Given the description of an element on the screen output the (x, y) to click on. 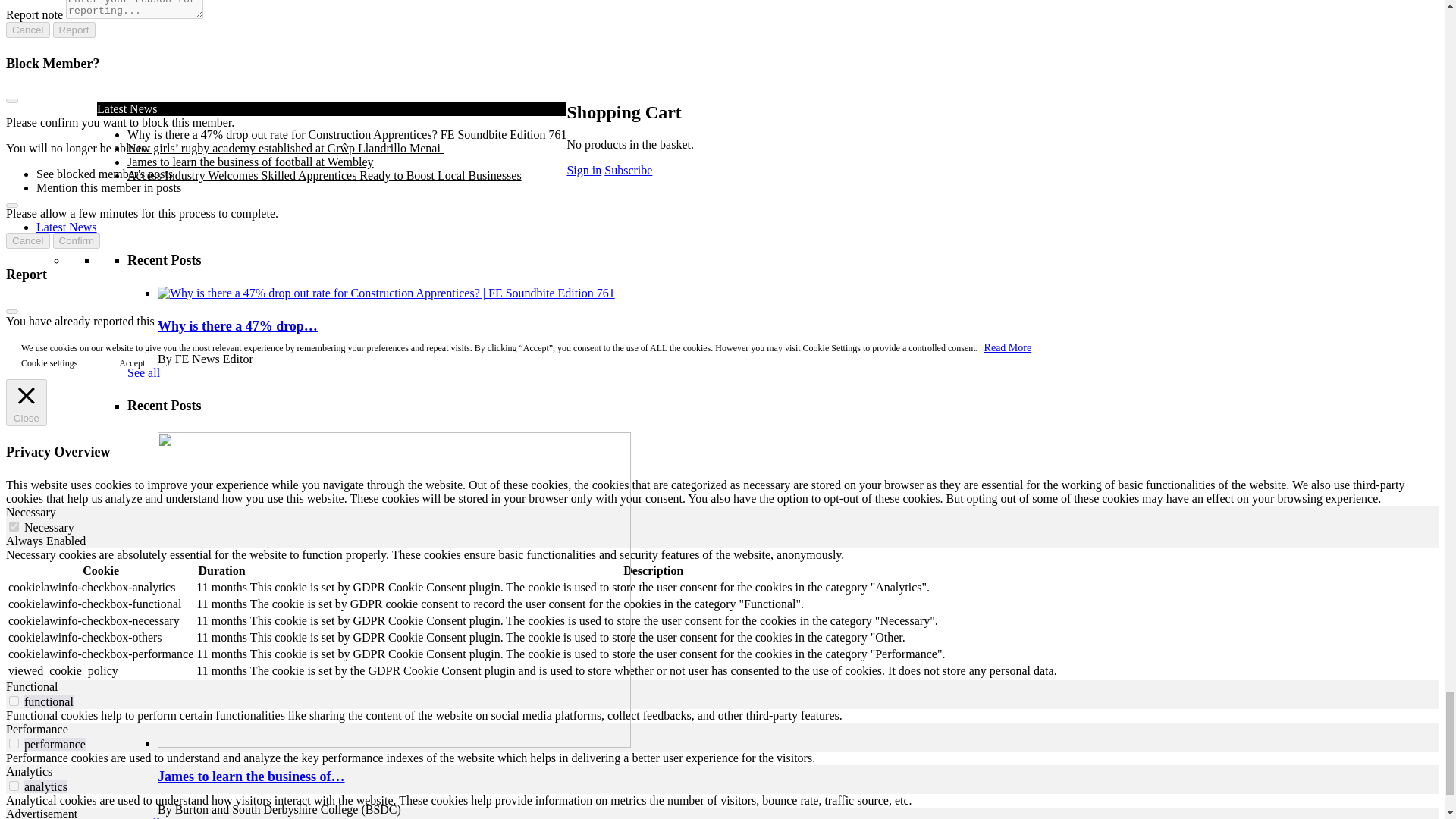
Cancel (27, 29)
on (13, 700)
on (13, 786)
Cancel (27, 240)
on (13, 743)
on (13, 526)
